Given the description of an element on the screen output the (x, y) to click on. 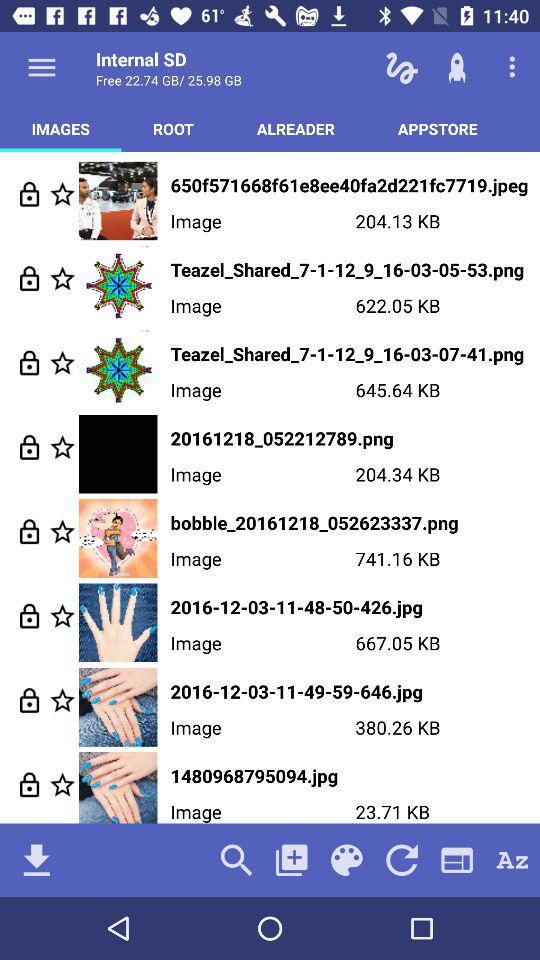
lock image (29, 700)
